Given the description of an element on the screen output the (x, y) to click on. 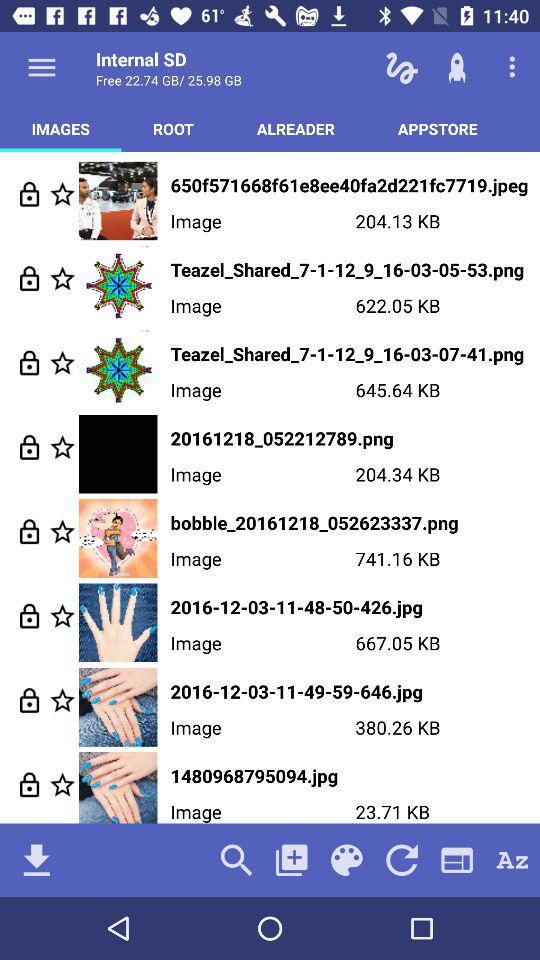
lock image (29, 700)
